Given the description of an element on the screen output the (x, y) to click on. 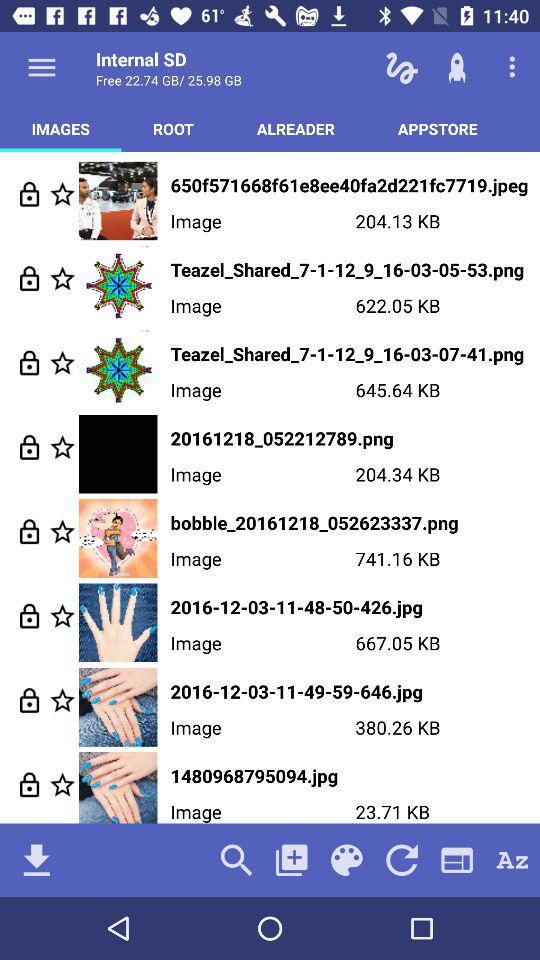
lock image (29, 700)
